Given the description of an element on the screen output the (x, y) to click on. 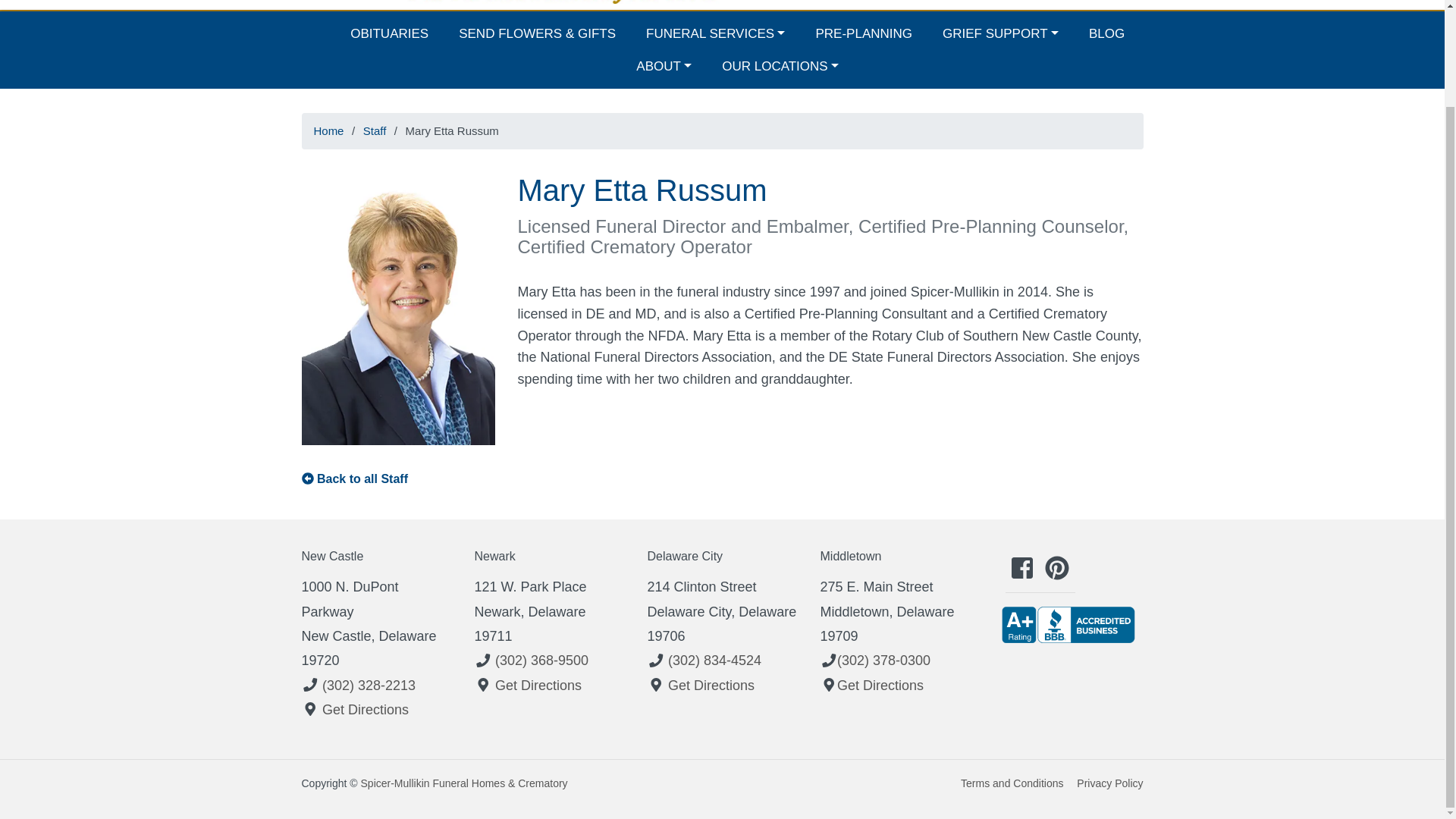
FUNERAL SERVICES (714, 33)
Staff (374, 130)
BLOG (1107, 33)
Get Directions (365, 709)
Back to all Staff (362, 478)
Get Directions (711, 685)
Home (328, 130)
OUR LOCATIONS (779, 65)
GRIEF SUPPORT (1000, 33)
PRE-PLANNING (863, 33)
OBITUARIES (389, 33)
Get Directions (537, 685)
ABOUT (663, 65)
